Given the description of an element on the screen output the (x, y) to click on. 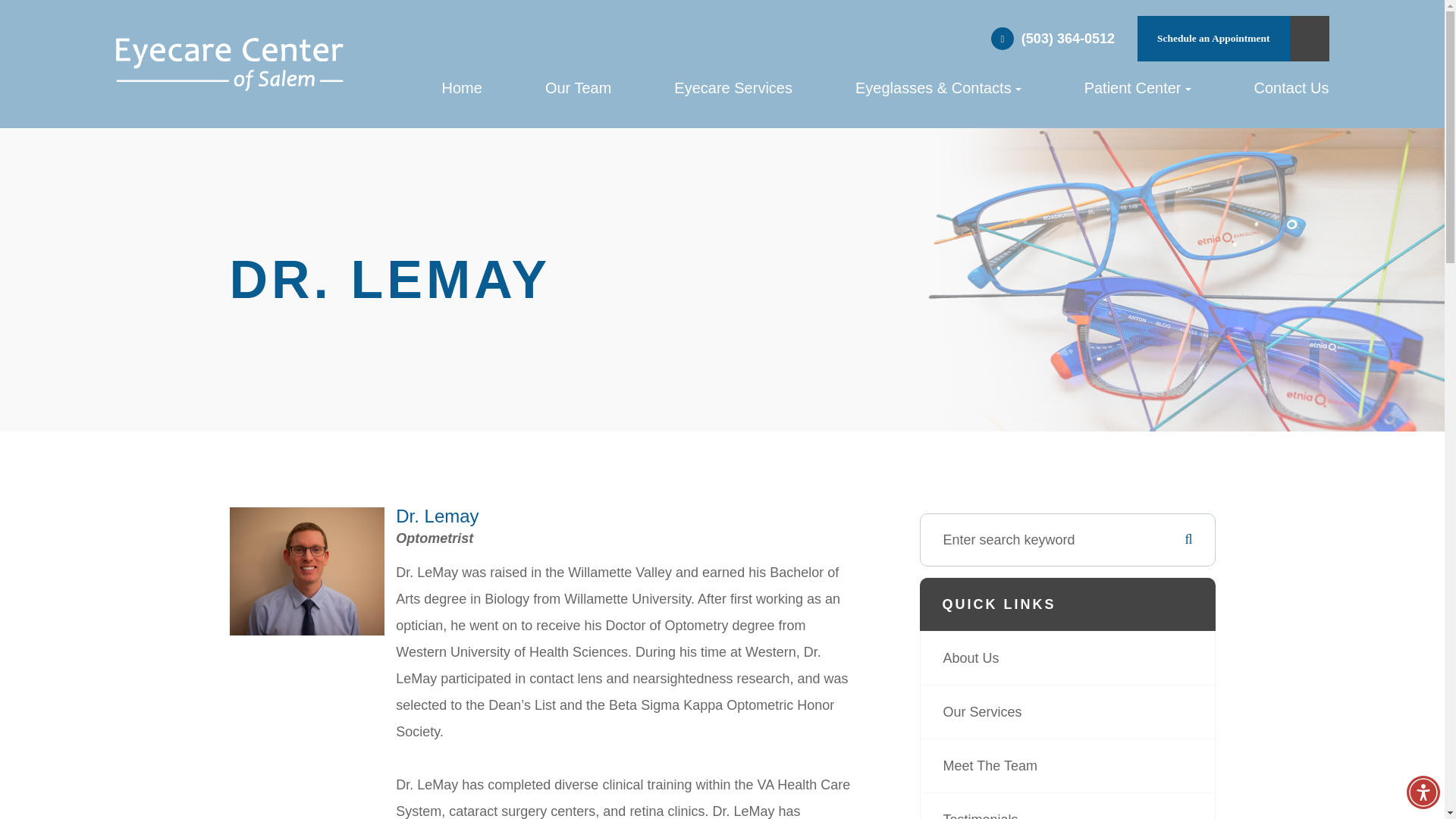
Our Team (577, 94)
Eyecare Services (733, 94)
Schedule an Appointment (1213, 38)
Home (461, 94)
Accessibility Menu (1422, 792)
